Given the description of an element on the screen output the (x, y) to click on. 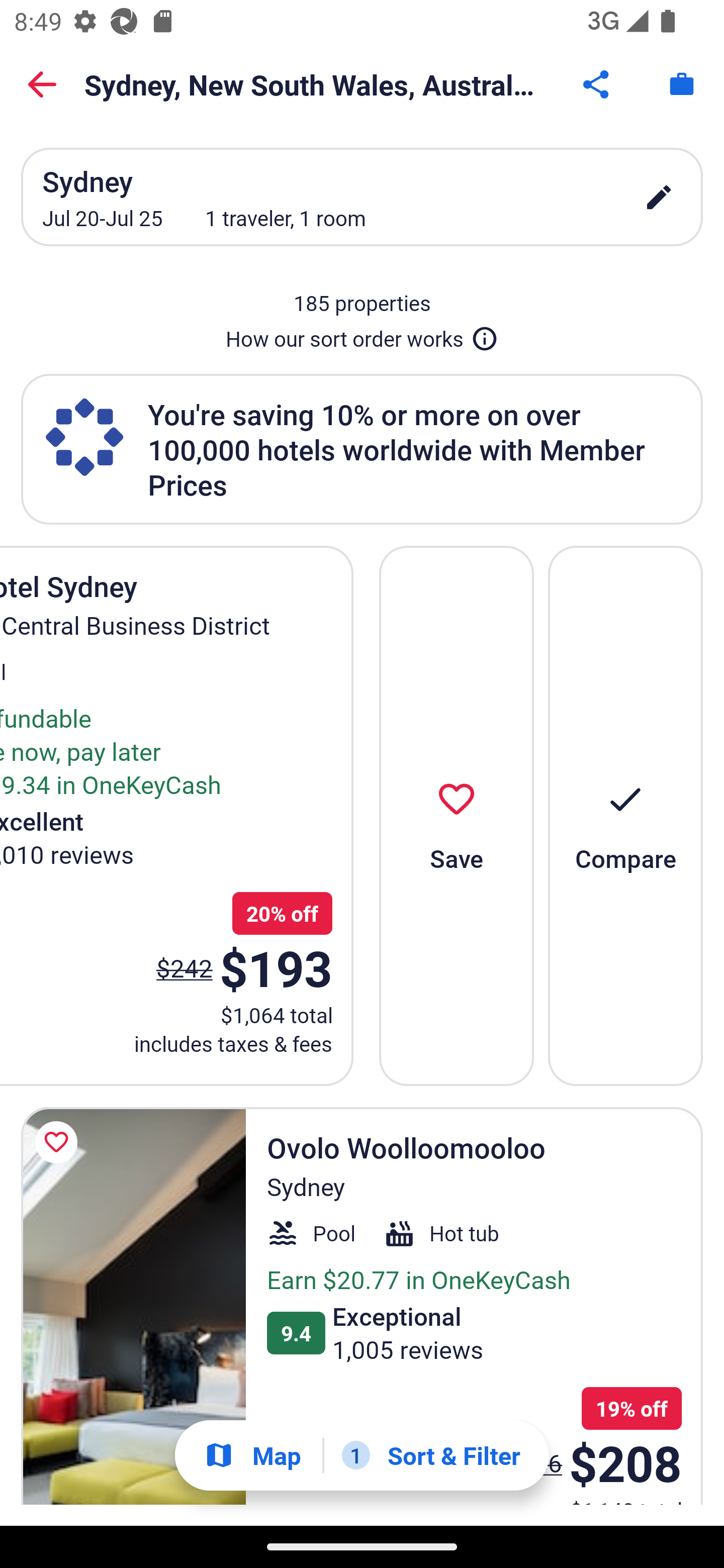
Back (42, 84)
Share Button (597, 84)
Trips. Button (681, 84)
Sydney Jul 20-Jul 25 1 traveler, 1 room edit (361, 196)
How our sort order works (361, 334)
Save (456, 815)
Compare (625, 815)
$242 The price was $242 (184, 967)
Save Ovolo Woolloomooloo to a trip (59, 1141)
Ovolo Woolloomooloo (133, 1306)
1 Sort & Filter 1 Filter applied. Filters Button (430, 1455)
Show map Map Show map Button (252, 1455)
